Given the description of an element on the screen output the (x, y) to click on. 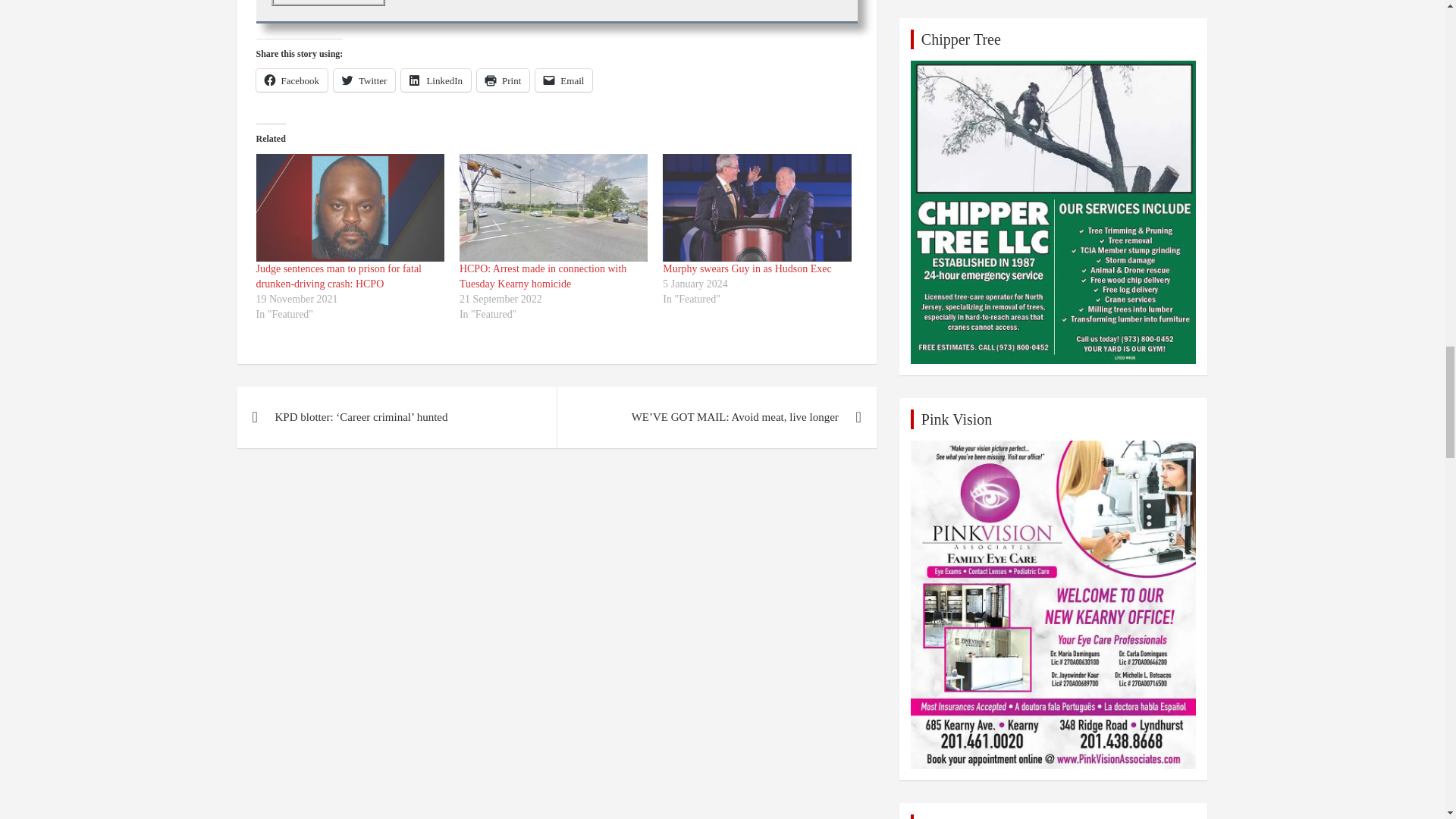
Click to share on Twitter (363, 79)
Click to share on Facebook (292, 79)
HCPO: Arrest made in connection with Tuesday Kearny homicide (543, 275)
Click to print (503, 79)
Click to email a link to a friend (563, 79)
Murphy swears Guy in as Hudson Exec (756, 207)
Murphy swears Guy in as Hudson Exec (746, 268)
Click to share on LinkedIn (435, 79)
HCPO: Arrest made in connection with Tuesday Kearny homicide (553, 207)
